Given the description of an element on the screen output the (x, y) to click on. 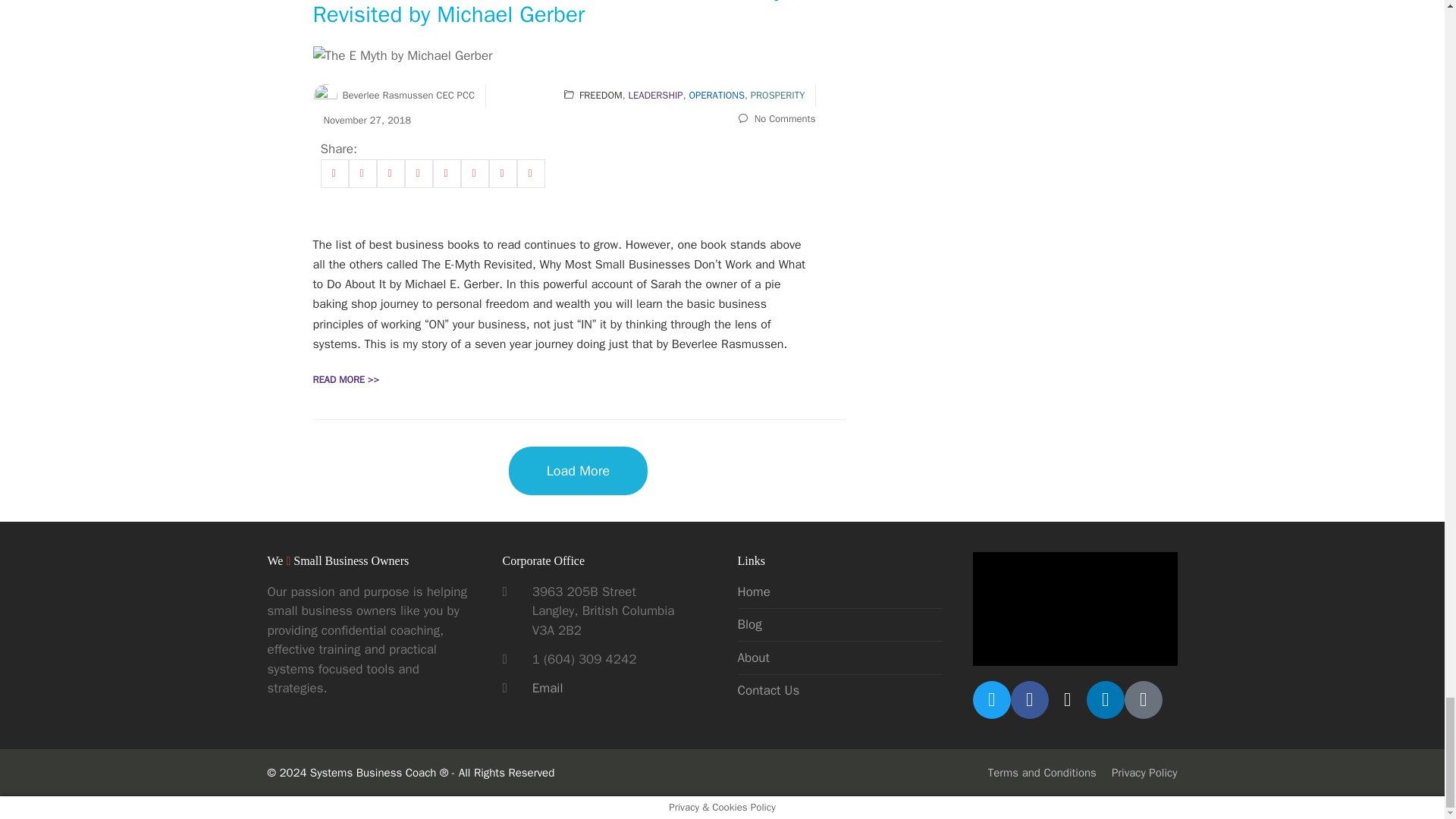
vimeo Video Player (1074, 608)
Email (547, 688)
